Given the description of an element on the screen output the (x, y) to click on. 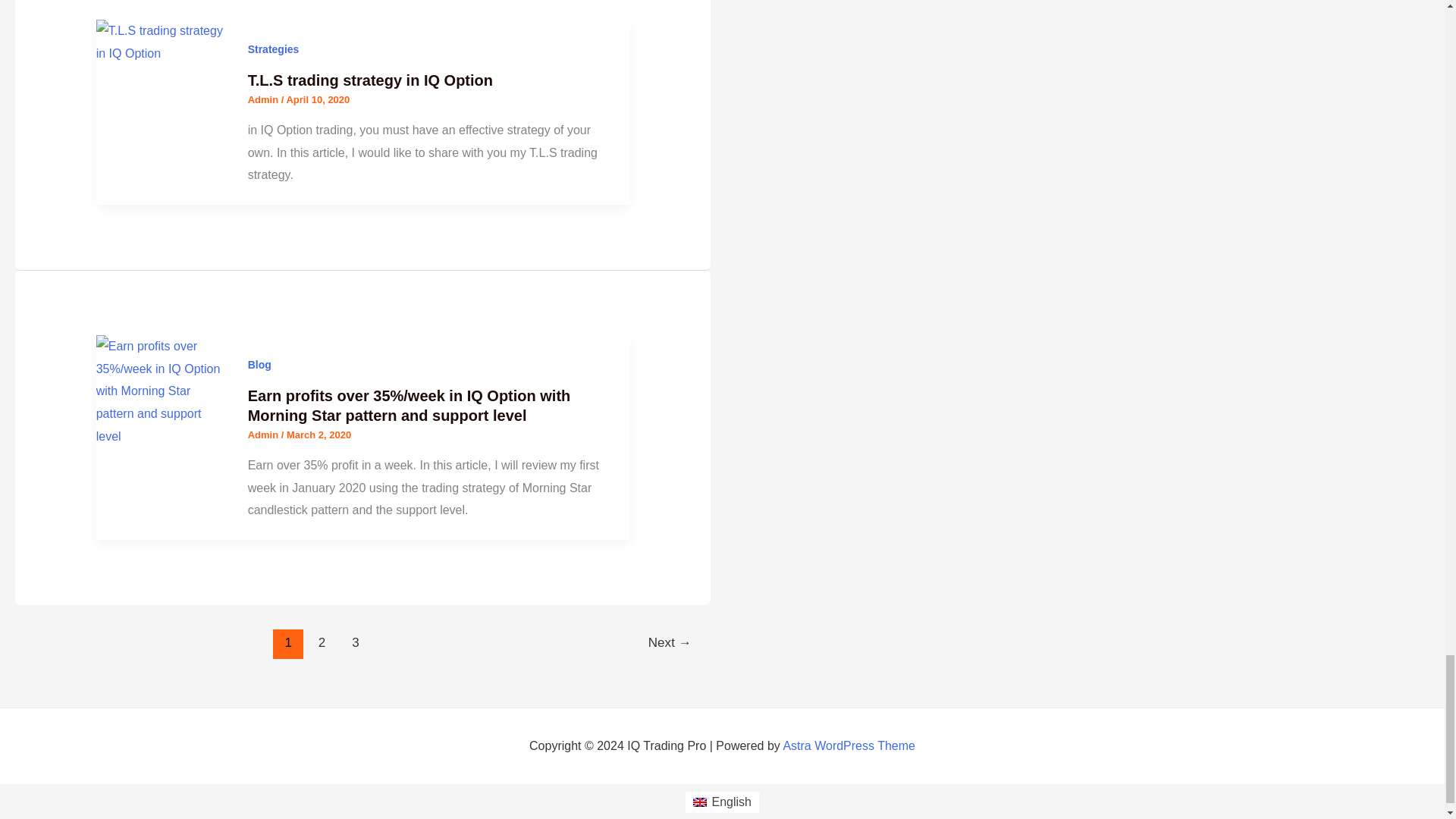
View all posts by Admin (264, 99)
View all posts by Admin (264, 434)
